Given the description of an element on the screen output the (x, y) to click on. 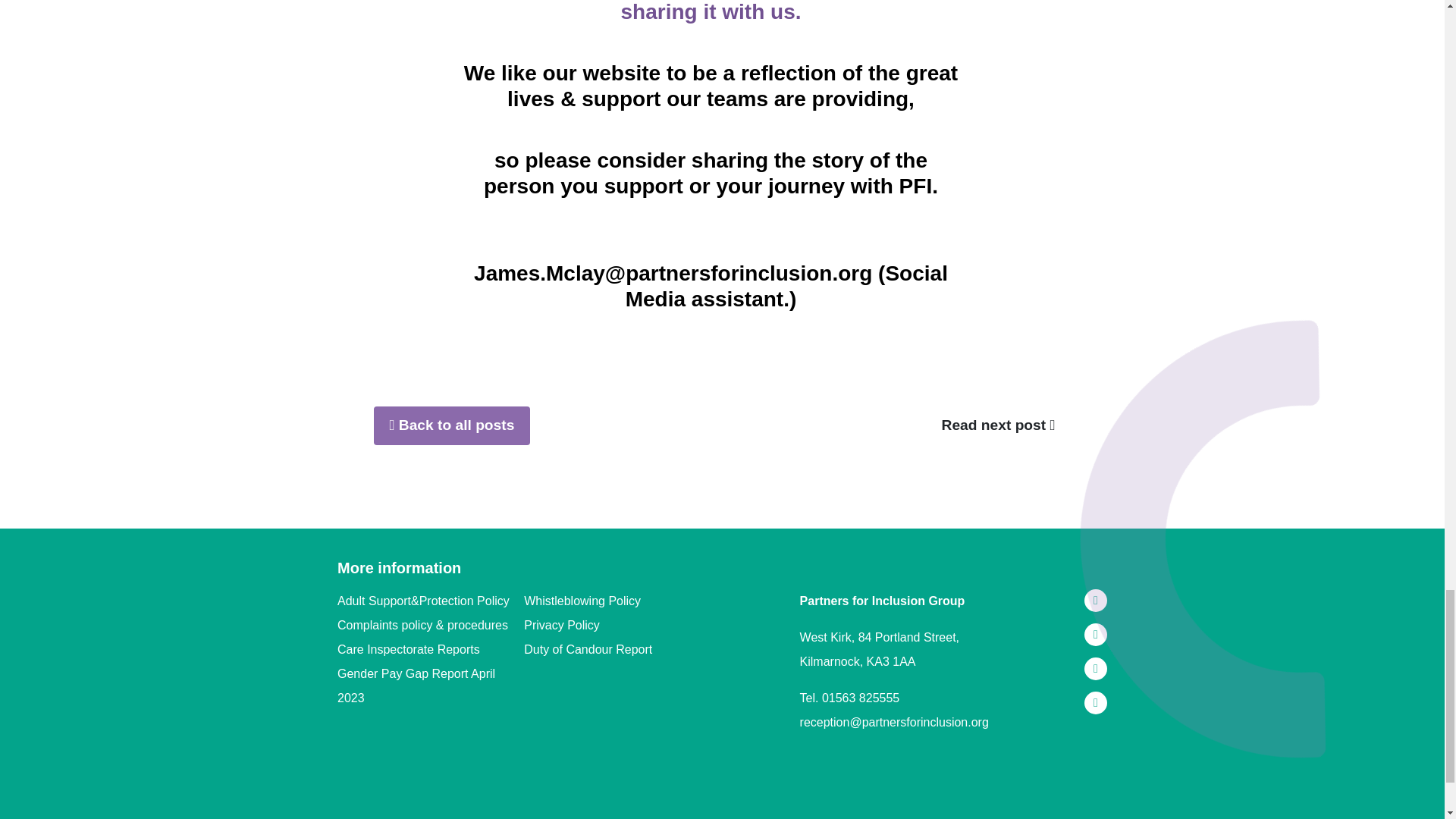
Whistleblowing Policy (617, 600)
Duty of Candour Report (617, 649)
Privacy Policy (617, 625)
Care Inspectorate Reports (430, 649)
Gender Pay Gap Report April 2023 (430, 685)
 Back to all posts (450, 425)
Read next post  (998, 425)
